Given the description of an element on the screen output the (x, y) to click on. 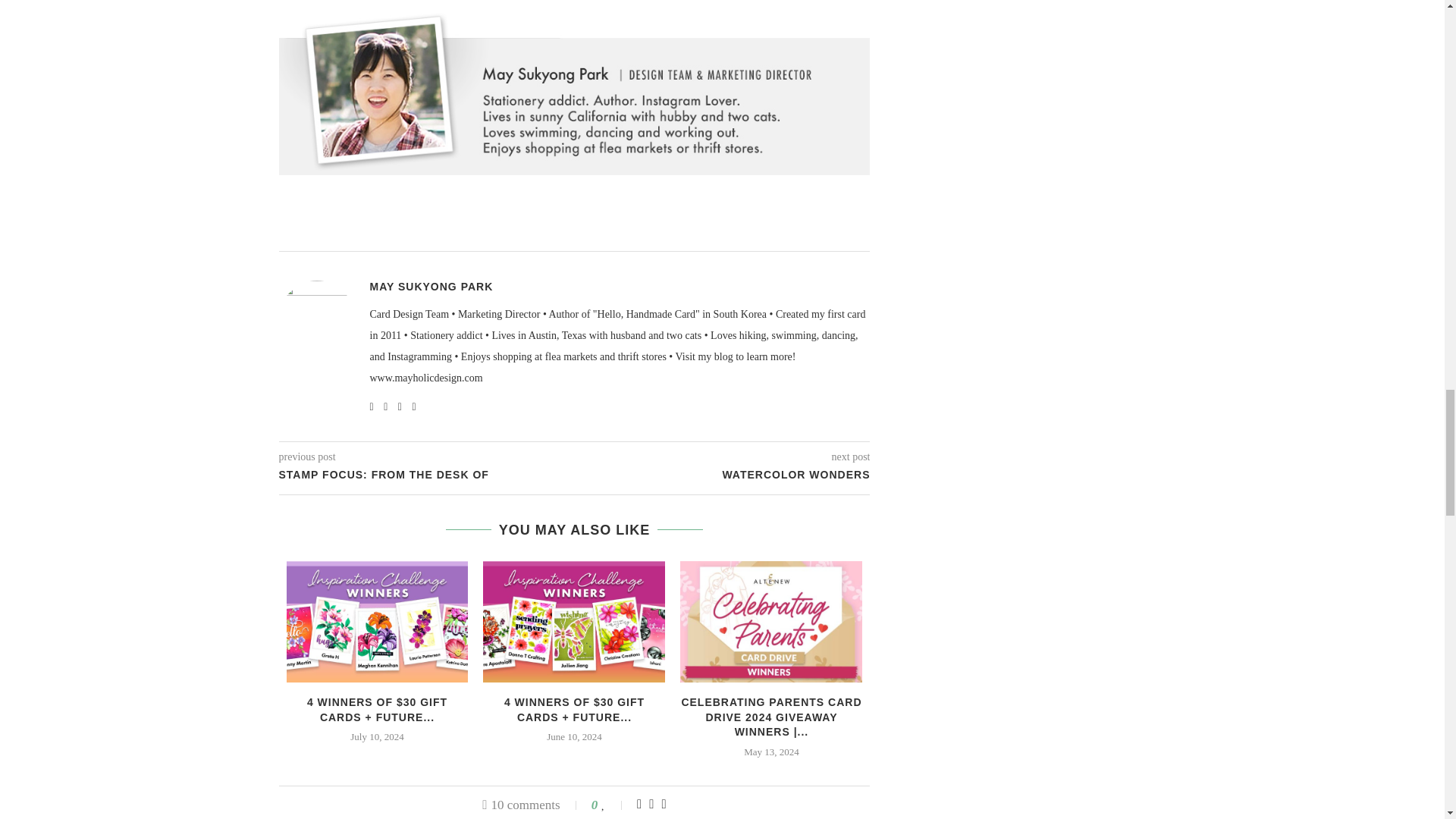
Posts by May Sukyong Park (431, 286)
Like (613, 804)
